Given the description of an element on the screen output the (x, y) to click on. 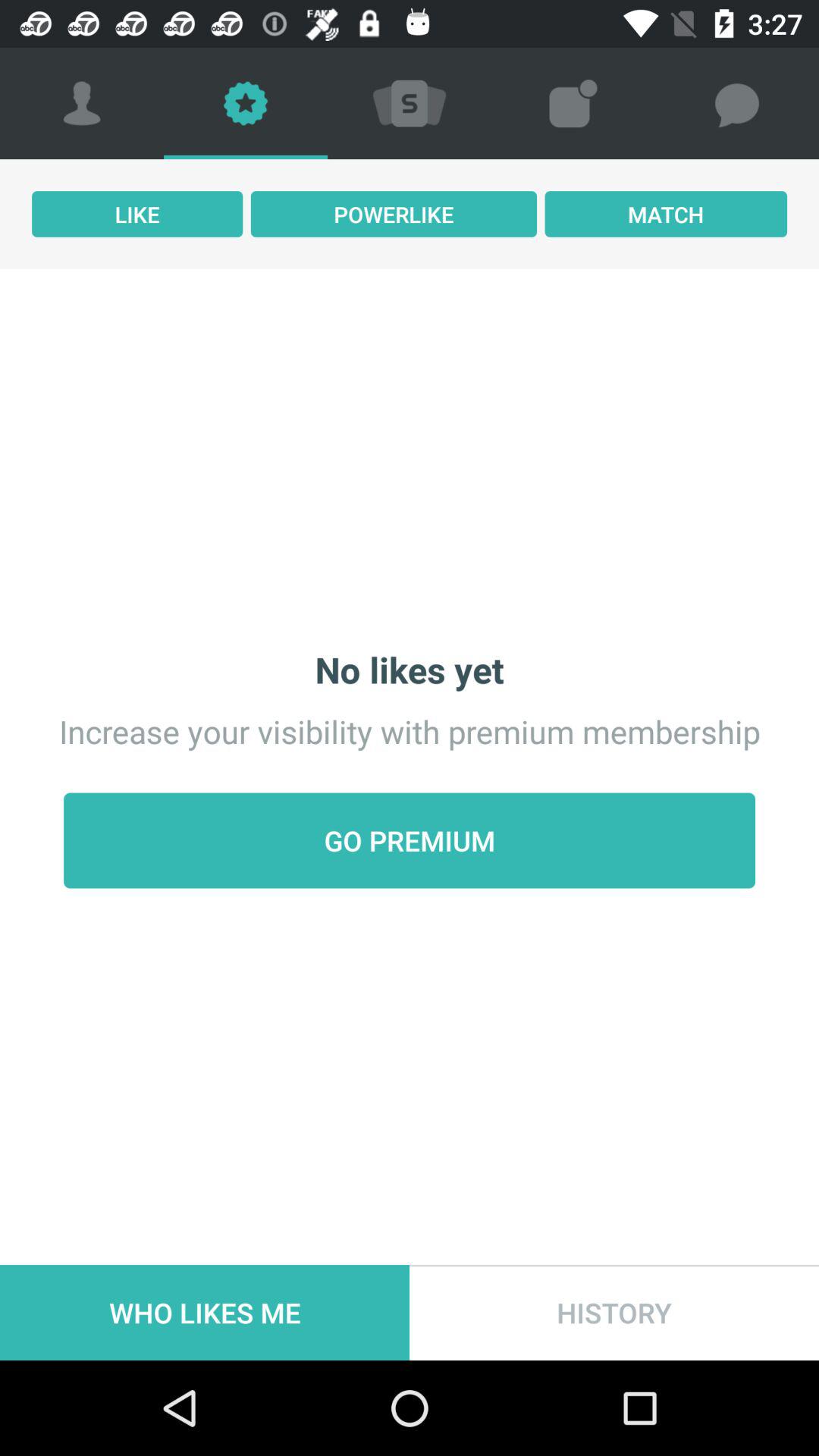
turn on the icon next to history item (204, 1312)
